Given the description of an element on the screen output the (x, y) to click on. 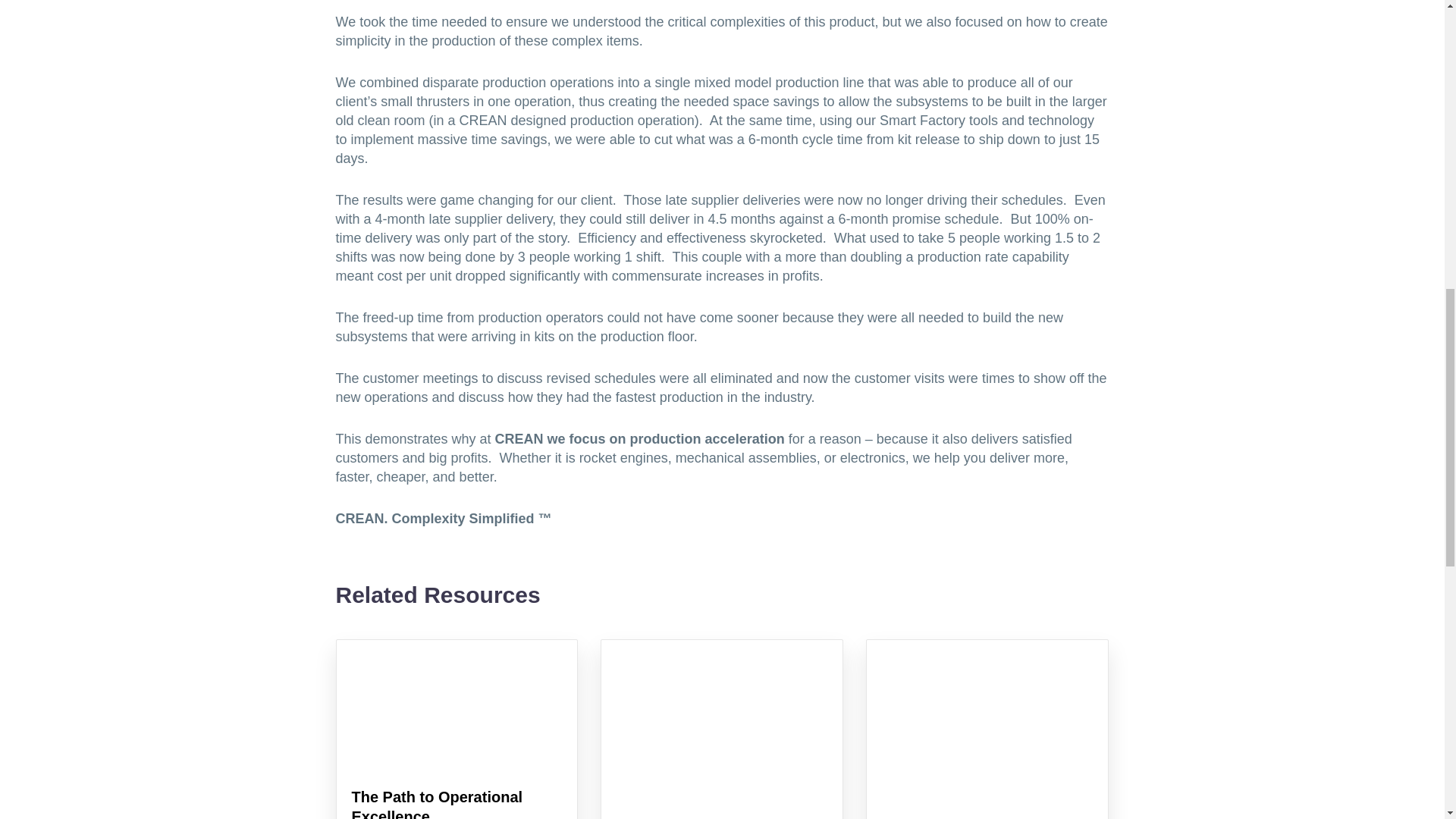
The Path to Operational Excellence (457, 761)
The Path to Operational Excellence (437, 803)
The Path to Operational Excellence (437, 803)
